Given the description of an element on the screen output the (x, y) to click on. 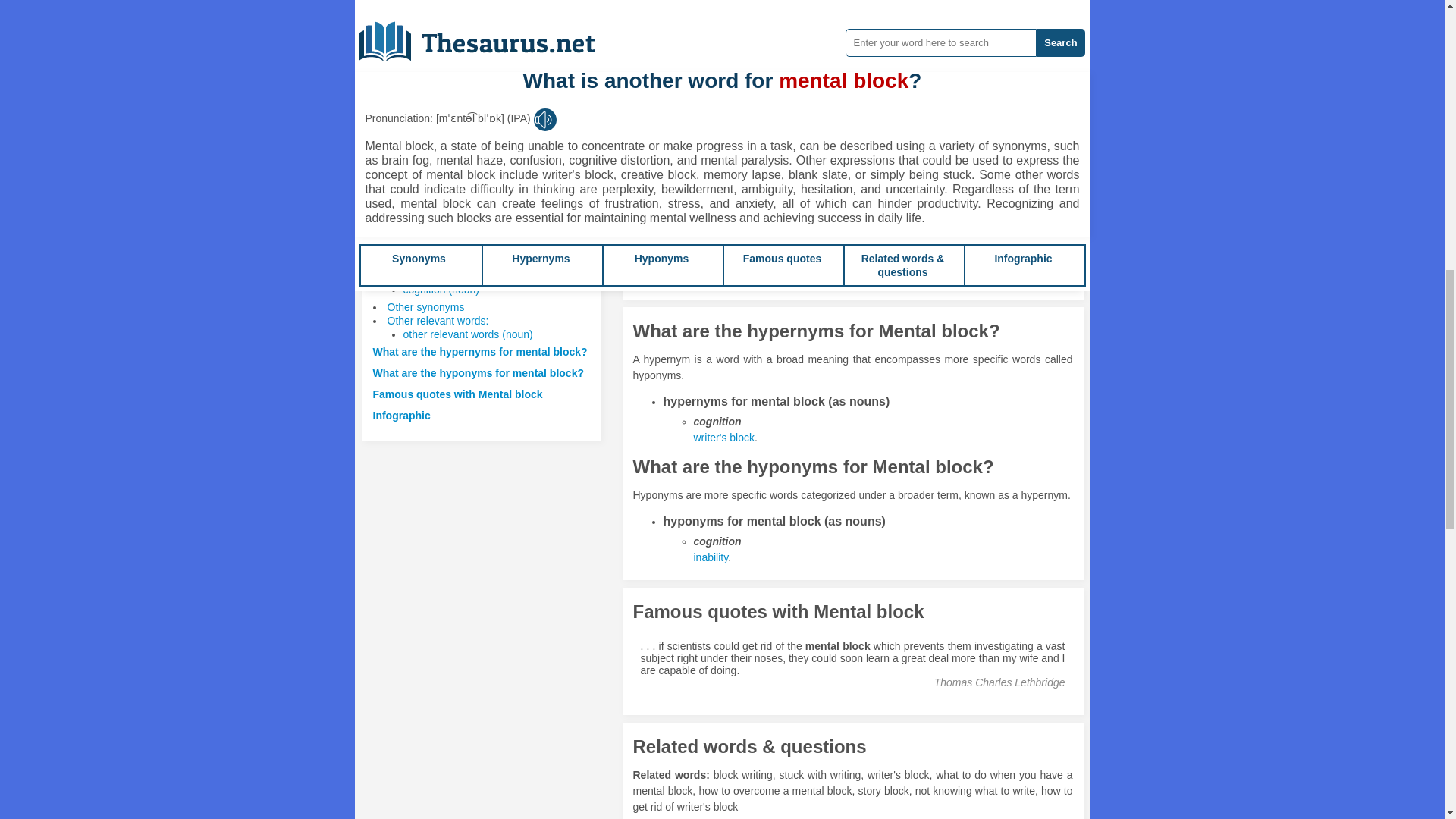
block (785, 177)
Synonyms for Mental block (823, 177)
Synonyms for Mental block (882, 12)
Synonyms for Mental block (866, 126)
delirium (1025, 177)
Synonyms for Mental block (705, 126)
oblivion (809, 126)
Absent-minded (705, 126)
forgetful (766, 126)
something goes in one ear and out the other (859, 20)
